Given the description of an element on the screen output the (x, y) to click on. 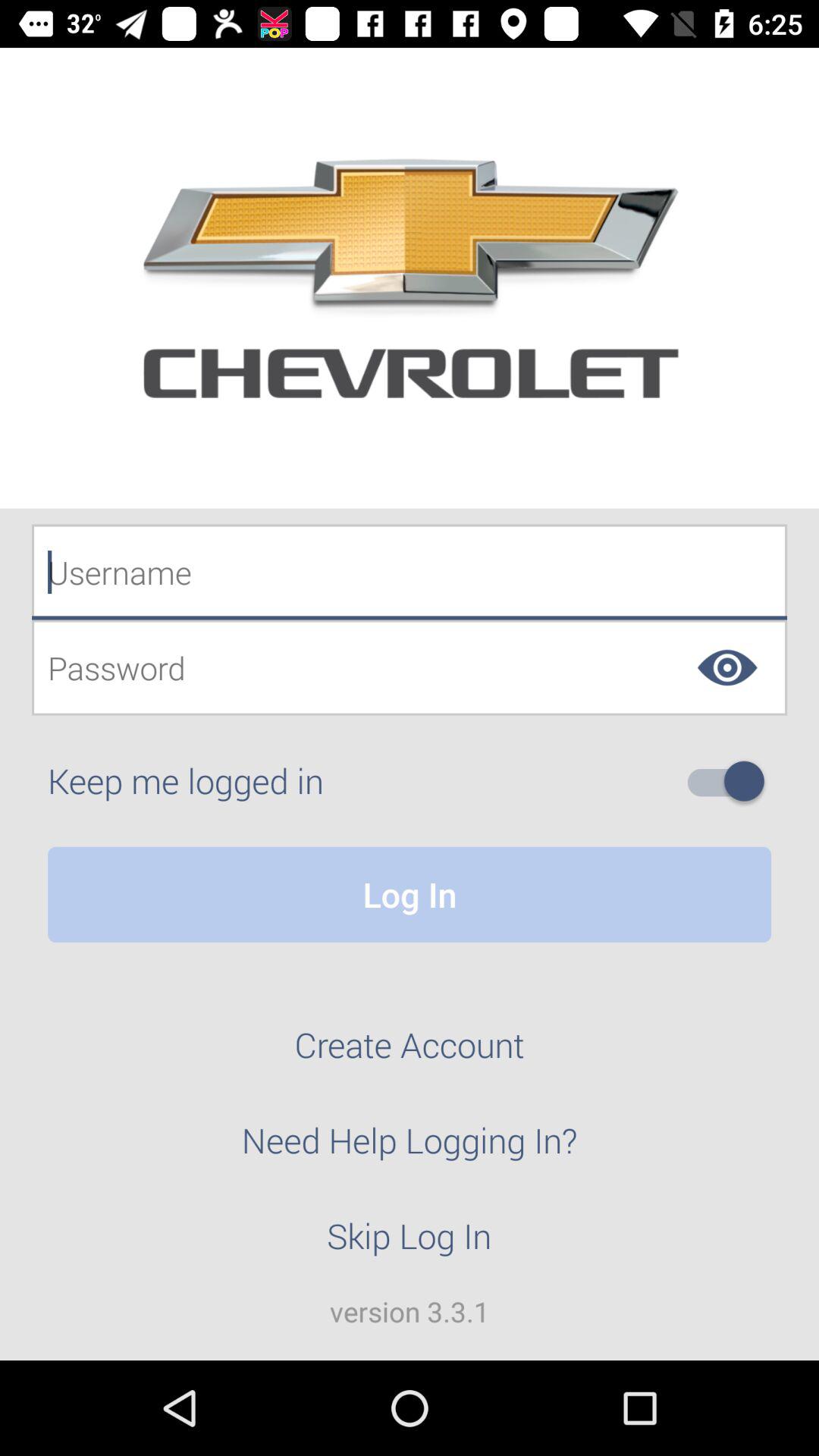
toggle option to stay logged in (731, 781)
